Given the description of an element on the screen output the (x, y) to click on. 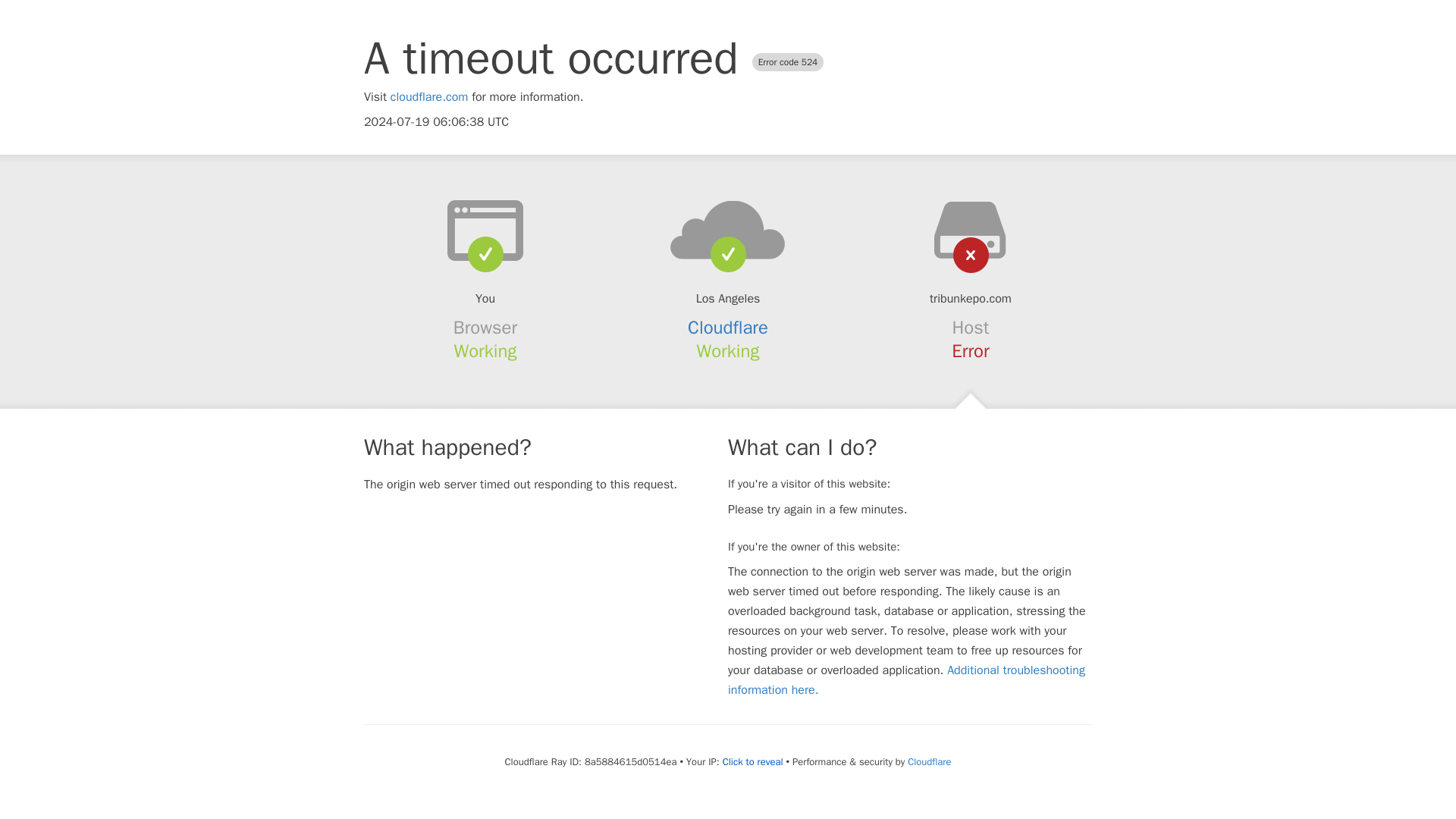
Cloudflare (928, 761)
Click to reveal (752, 762)
cloudflare.com (429, 96)
Additional troubleshooting information here. (906, 679)
Cloudflare (727, 327)
